Given the description of an element on the screen output the (x, y) to click on. 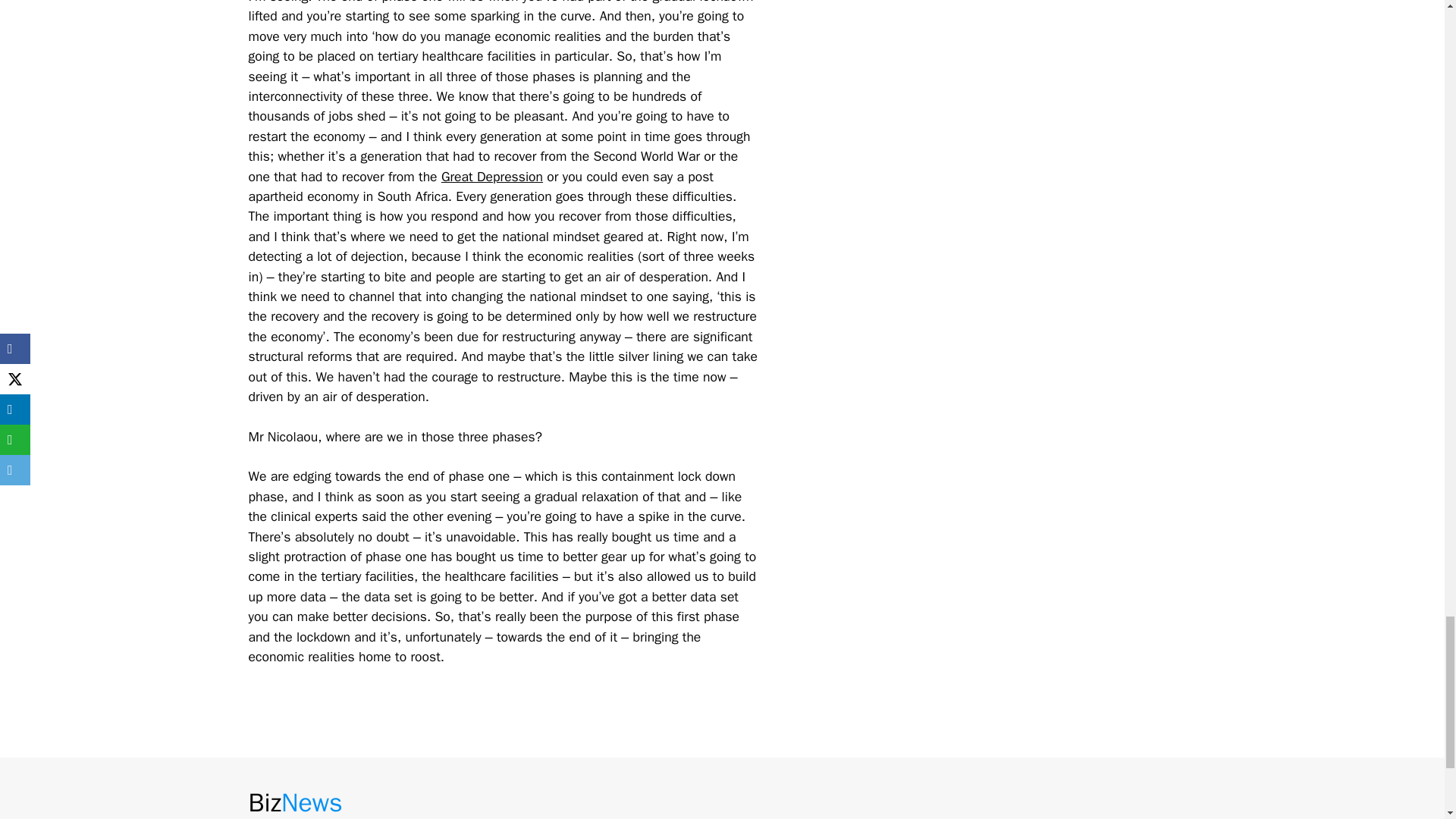
BizNews (295, 802)
